Given the description of an element on the screen output the (x, y) to click on. 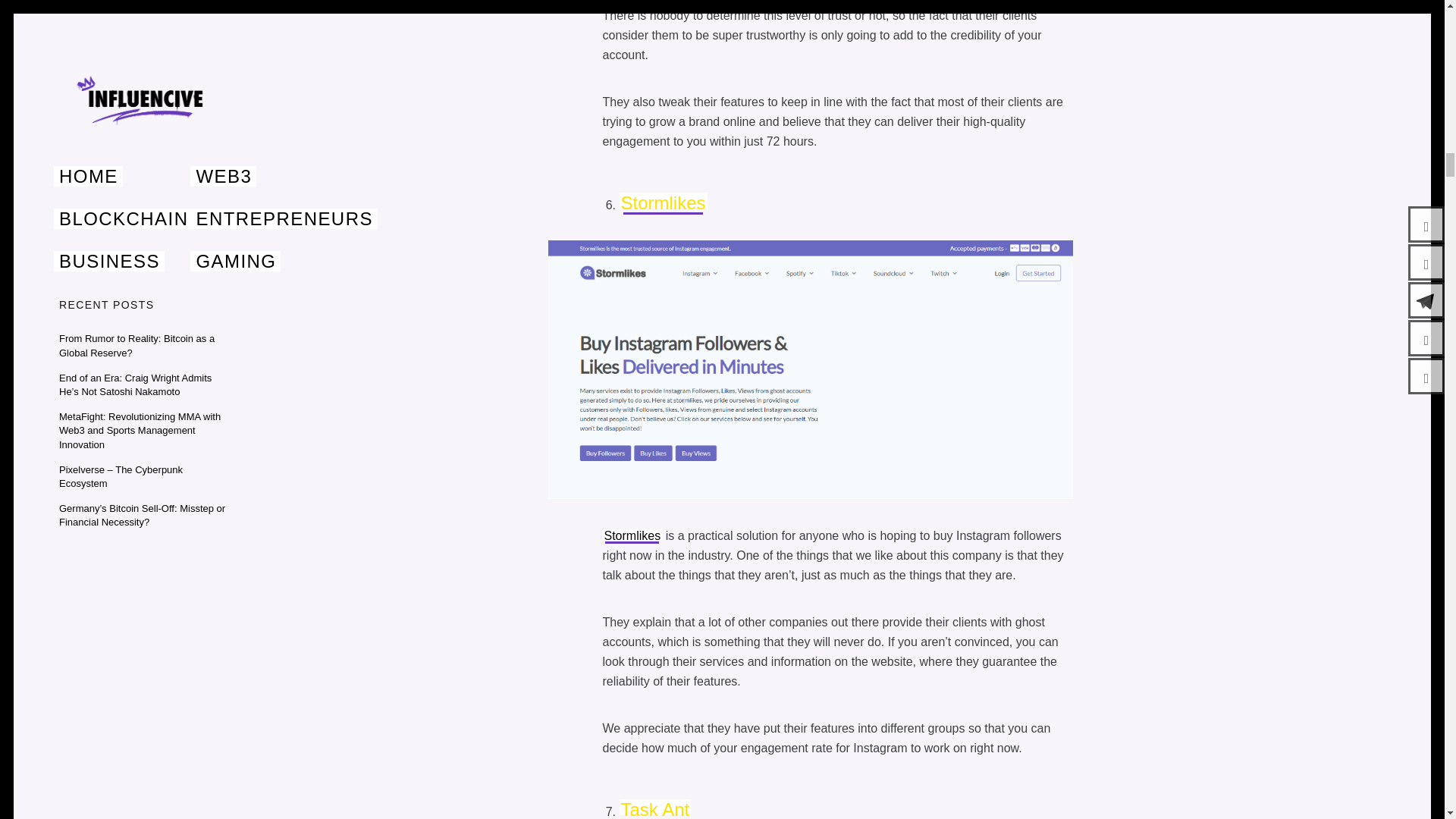
Task Ant (654, 809)
Stormlikes (632, 535)
Stormlikes (662, 202)
